Given the description of an element on the screen output the (x, y) to click on. 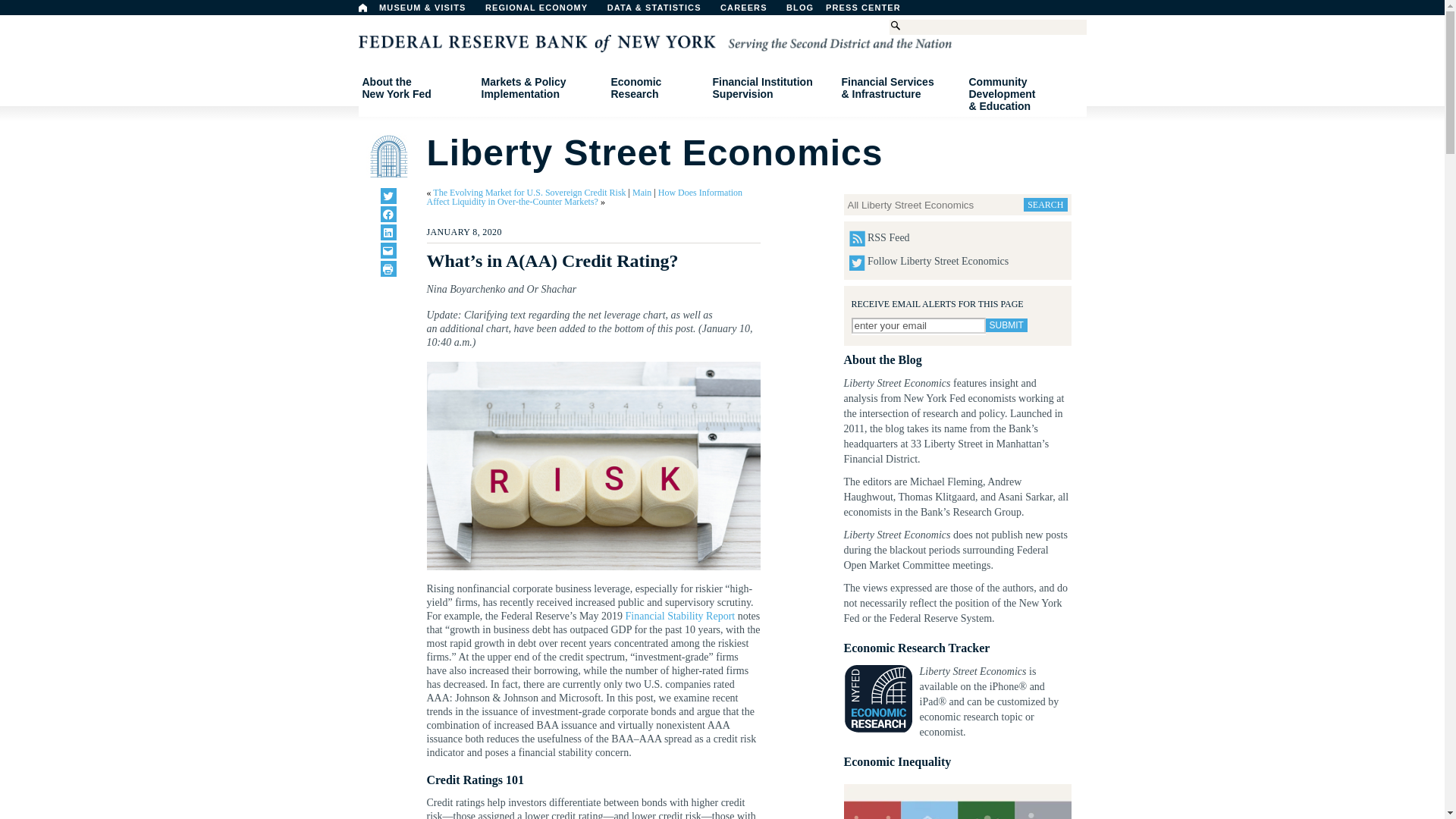
BLOG (839, 11)
CAREERS (751, 11)
enter your email (917, 325)
Click to email a link to a friend (388, 250)
Click to share on Facebook (388, 213)
REGIONAL ECONOMY (543, 11)
Click to print (388, 268)
Click to share on Twitter (388, 195)
Submit (1006, 325)
PRESS CENTER (870, 11)
